Given the description of an element on the screen output the (x, y) to click on. 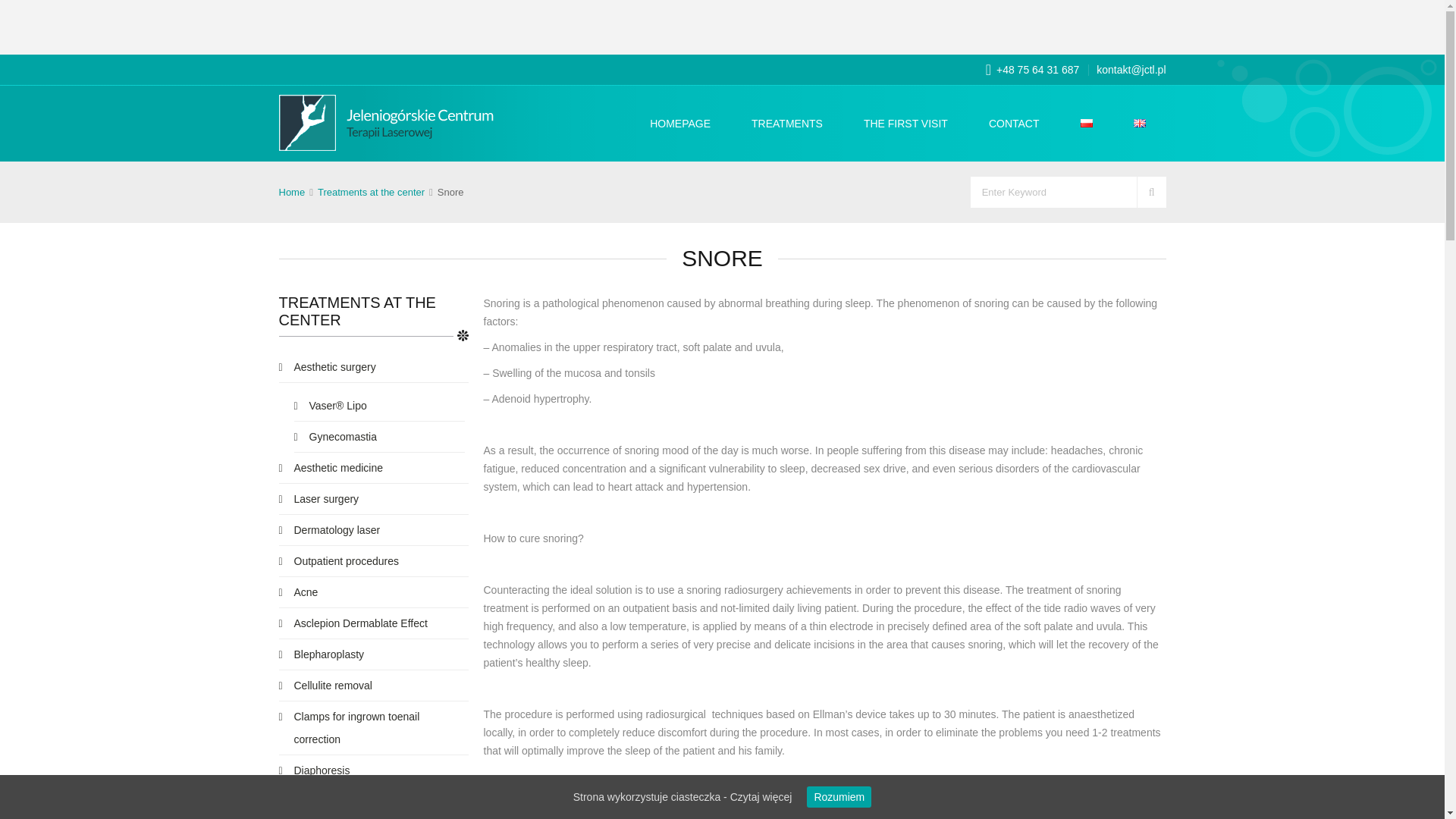
HOMEPAGE (680, 122)
Aesthetic medicine (373, 470)
Polski (1086, 122)
Clamps for ingrown toenail correction (373, 730)
Outpatient procedures (373, 563)
Diaphoresis (373, 772)
CONTACT (1014, 122)
THE FIRST VISIT (905, 122)
English (1138, 122)
Laser surgery (373, 501)
Acne (373, 594)
Aesthetic surgery (373, 369)
Cellulite removal (373, 687)
Treatments at the center (371, 192)
Gynecomastia (379, 438)
